Given the description of an element on the screen output the (x, y) to click on. 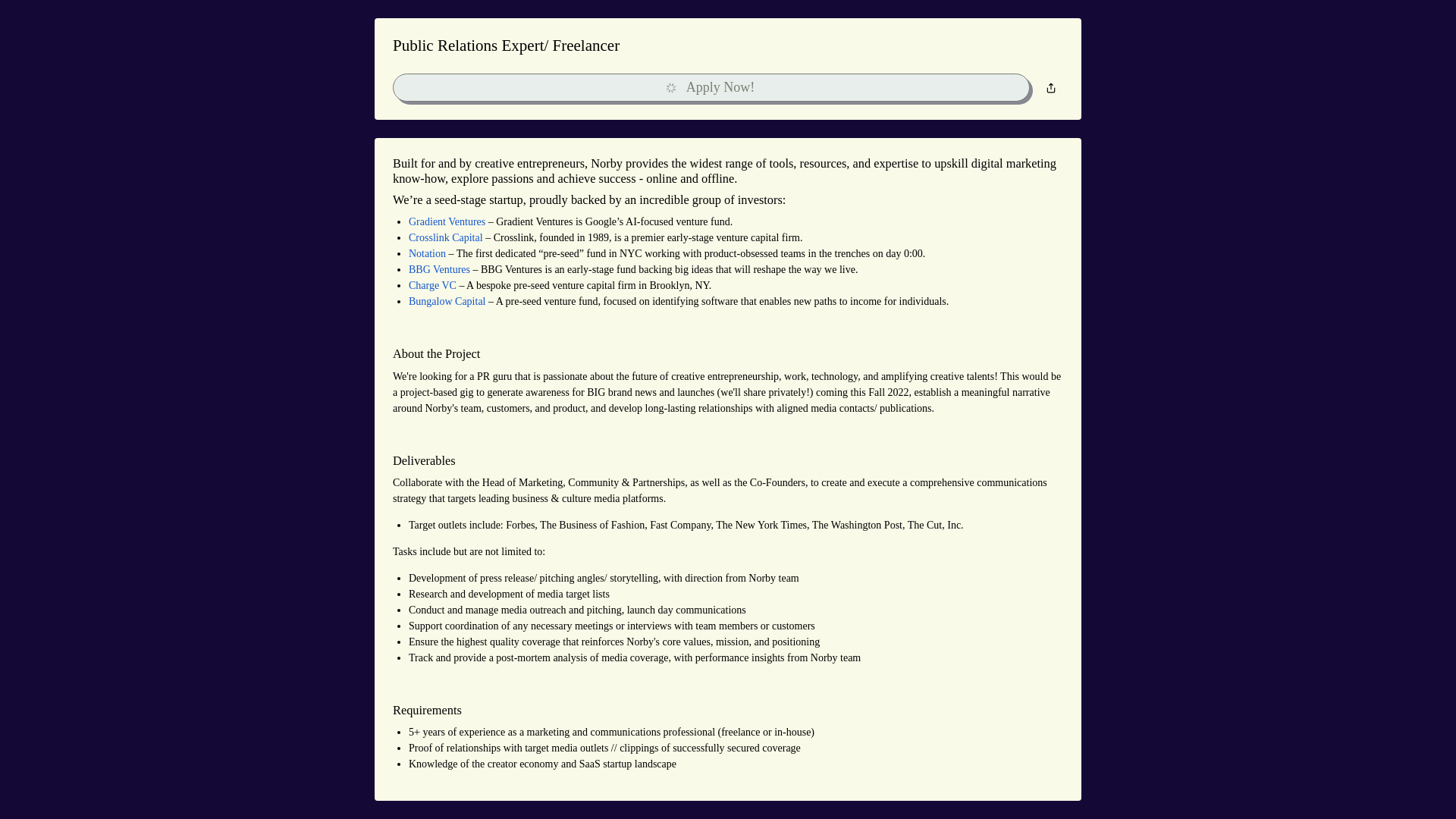
Notation Element type: text (426, 253)
Charge VC Element type: text (432, 285)
Gradient Ventures Element type: text (446, 221)
Crosslink Capital Element type: text (445, 237)
BBG Ventures Element type: text (439, 269)
Apply Now! Element type: text (710, 87)
Bungalow Capital Element type: text (447, 301)
